Given the description of an element on the screen output the (x, y) to click on. 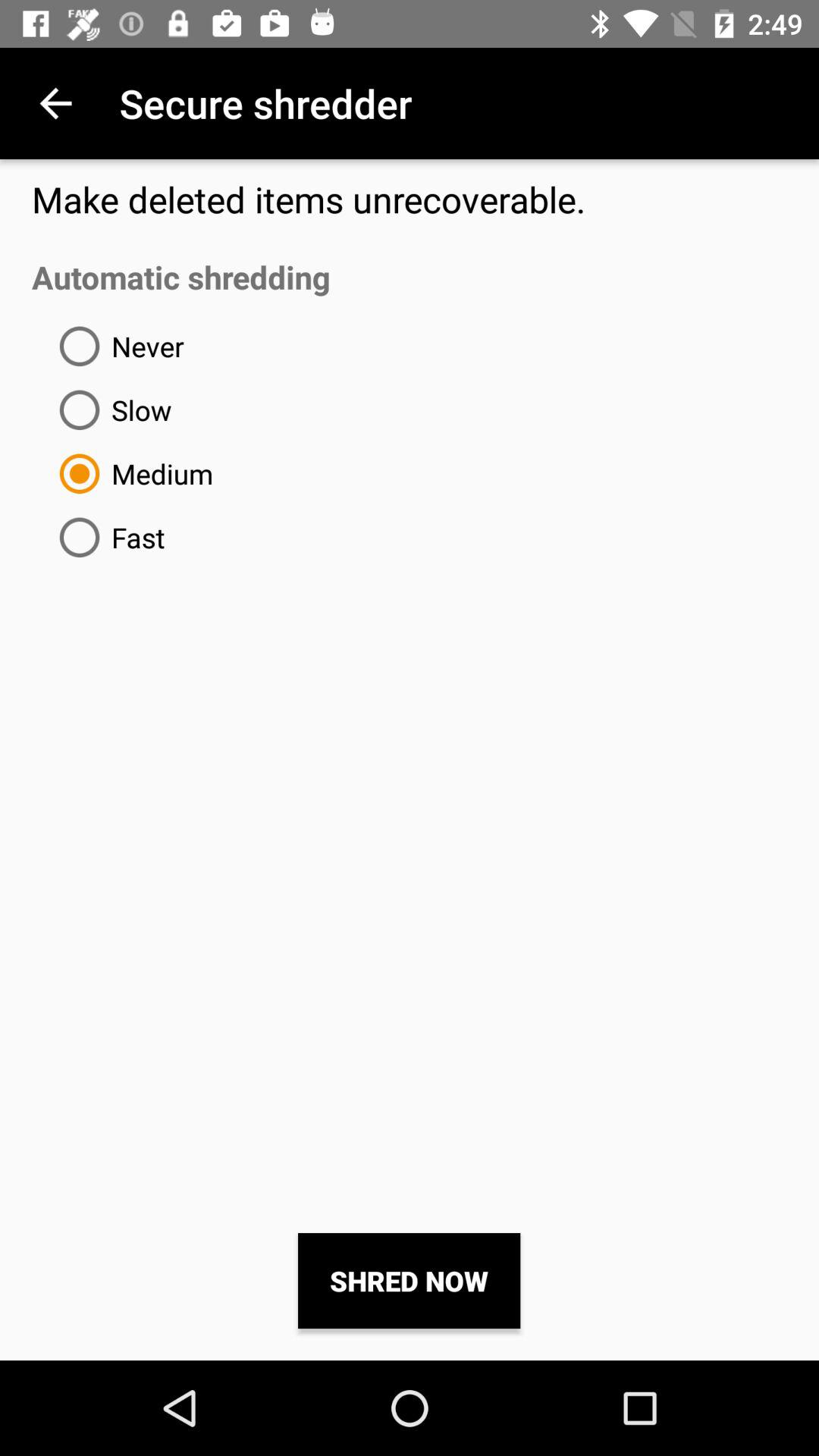
click medium item (130, 473)
